Given the description of an element on the screen output the (x, y) to click on. 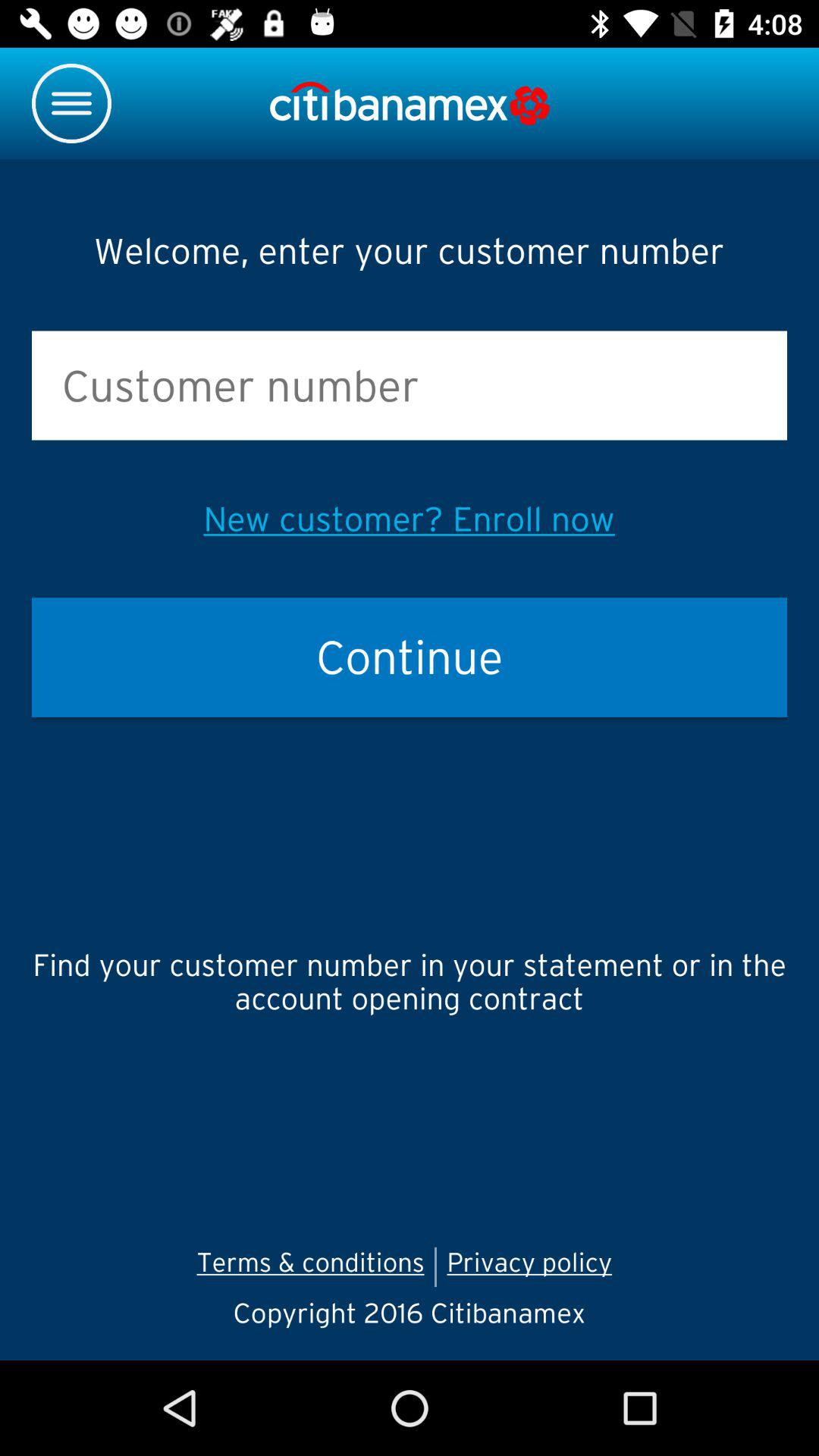
swipe to the privacy policy item (534, 1267)
